Given the description of an element on the screen output the (x, y) to click on. 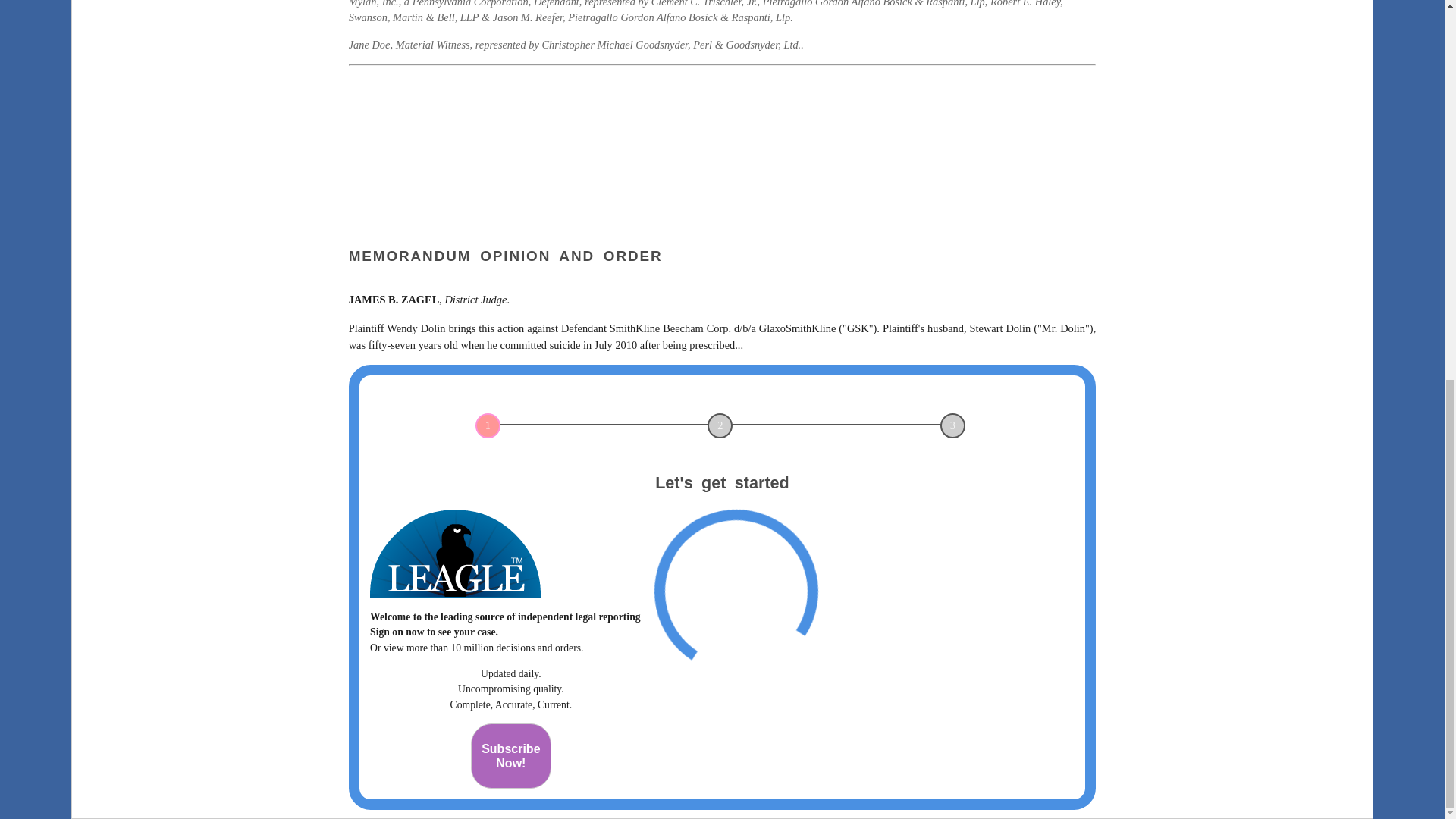
Advertisement (510, 755)
